Given the description of an element on the screen output the (x, y) to click on. 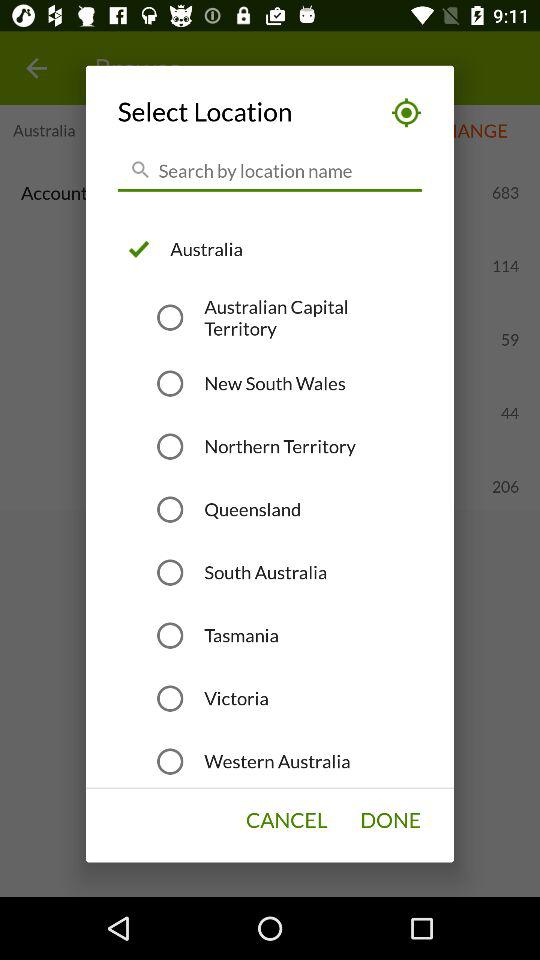
press queensland (252, 509)
